Given the description of an element on the screen output the (x, y) to click on. 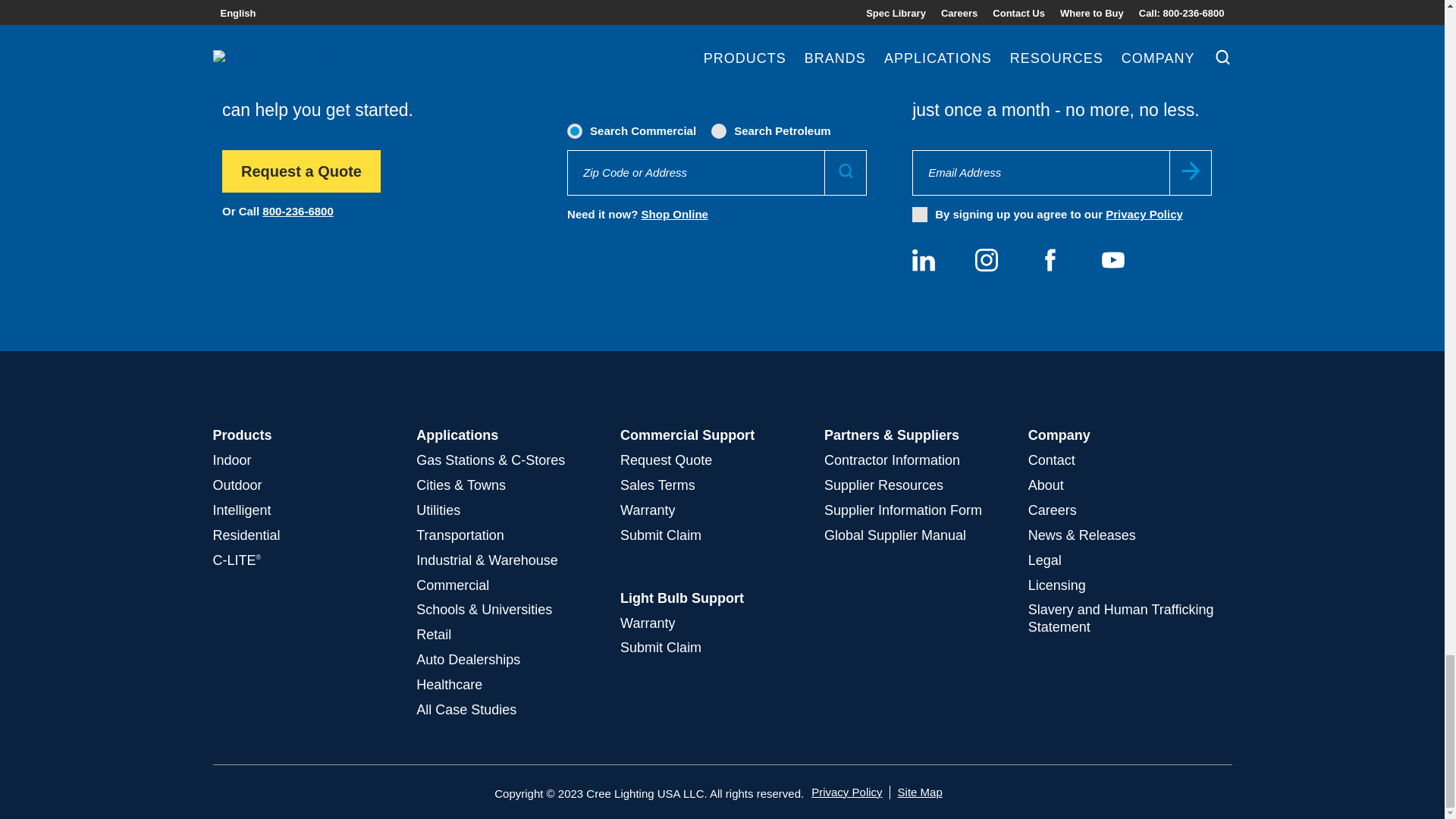
privacy (919, 214)
commercial (575, 130)
petroleum (719, 130)
